Given the description of an element on the screen output the (x, y) to click on. 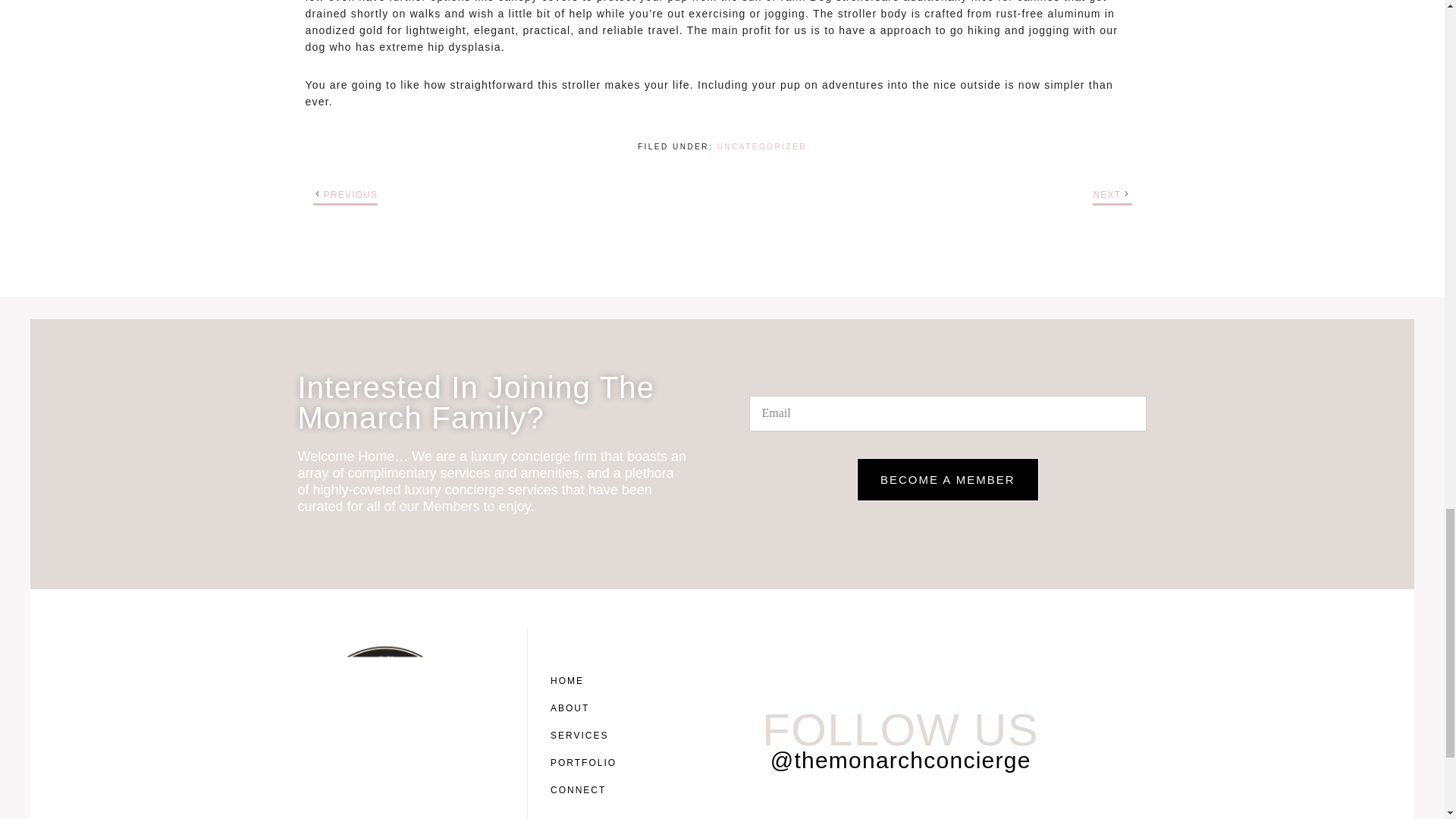
PREVIOUS (350, 194)
SERVICES (587, 735)
BECOME A MEMBER (948, 479)
PORTFOLIO (587, 762)
UNCATEGORIZED (761, 146)
CONNECT (587, 789)
HOME (587, 680)
NEXT (1107, 194)
ABOUT (587, 707)
